Given the description of an element on the screen output the (x, y) to click on. 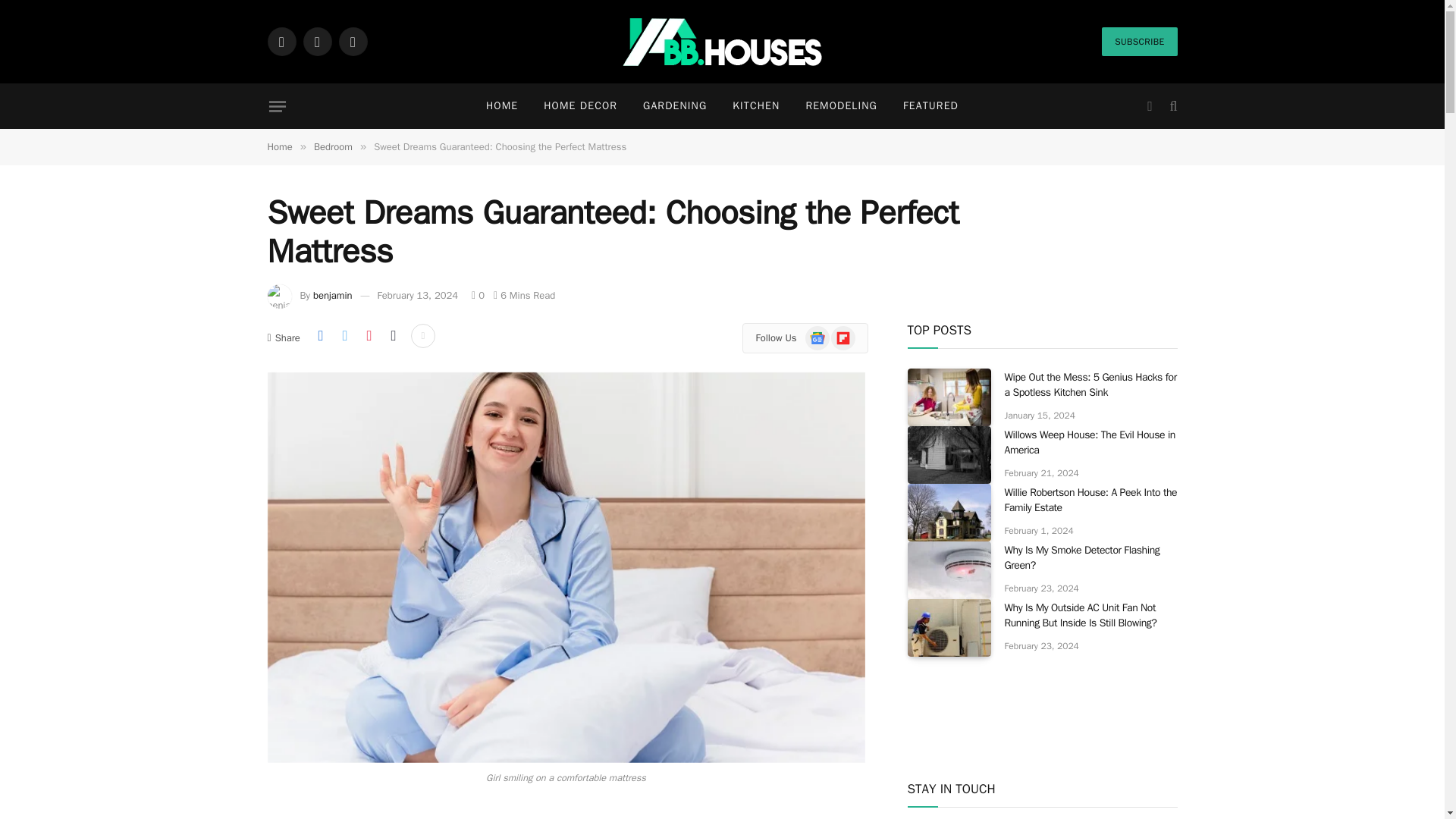
0 (477, 295)
benjamin (332, 295)
HOME DECOR (580, 105)
Share on Pinterest (369, 335)
Copy Link (392, 335)
Bloxburg Houses (722, 41)
Home (279, 146)
Instagram (351, 41)
HOME (502, 105)
Share on Facebook (319, 335)
REMODELING (840, 105)
KITCHEN (755, 105)
Facebook (280, 41)
Switch to Dark Design - easier on eyes. (1149, 106)
Bedroom (333, 146)
